Given the description of an element on the screen output the (x, y) to click on. 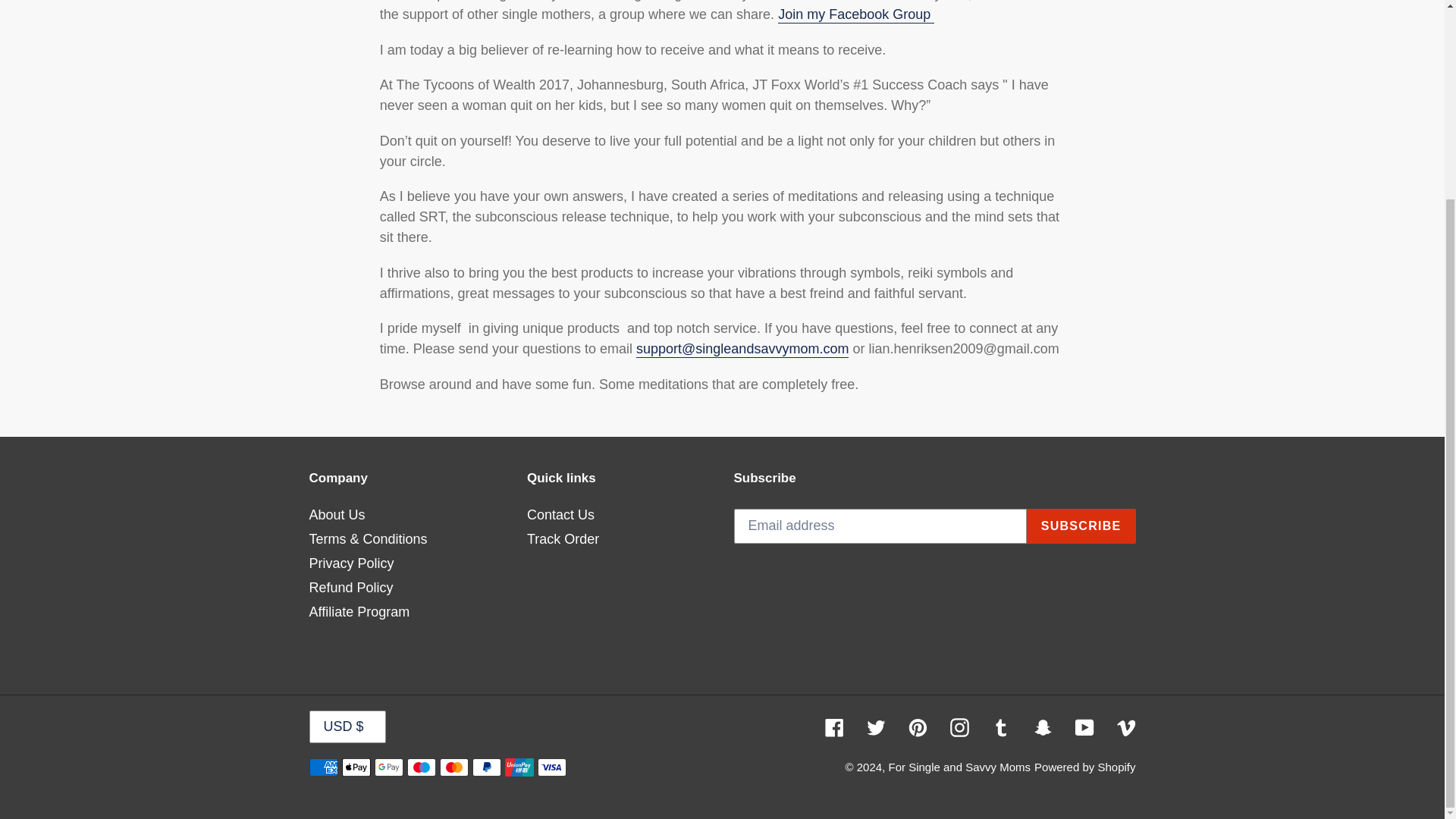
Affiliate Program (359, 611)
Privacy Policy (351, 563)
About Us (336, 514)
Join my Facebook Group  (855, 14)
Refund Policy (350, 587)
Track Order (562, 539)
Contact Us (560, 514)
SUBSCRIBE (1080, 525)
